Given the description of an element on the screen output the (x, y) to click on. 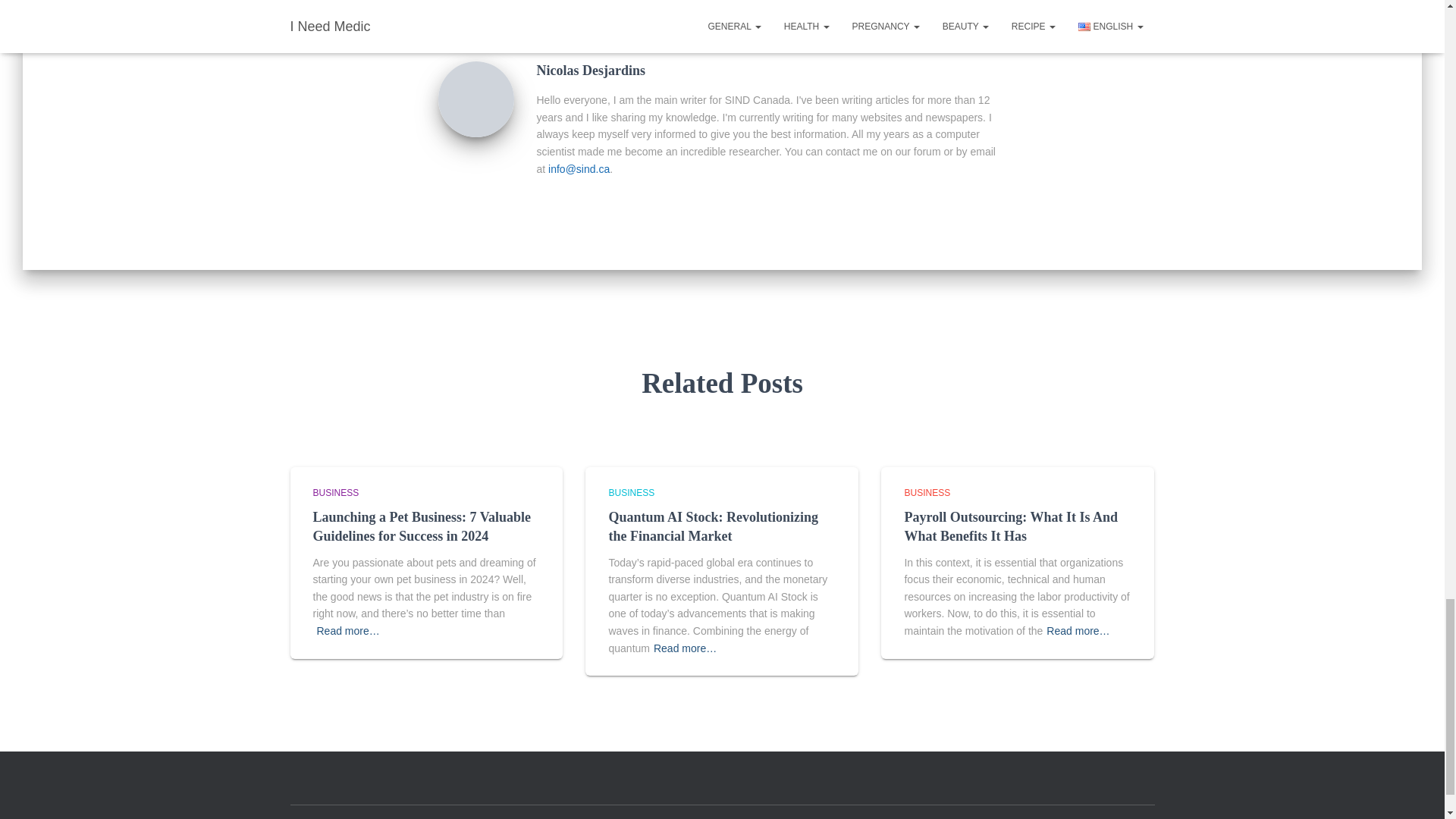
Quantum AI Stock: Revolutionizing the Financial Market (713, 526)
BUSINESS (335, 492)
BUSINESS (630, 492)
